Given the description of an element on the screen output the (x, y) to click on. 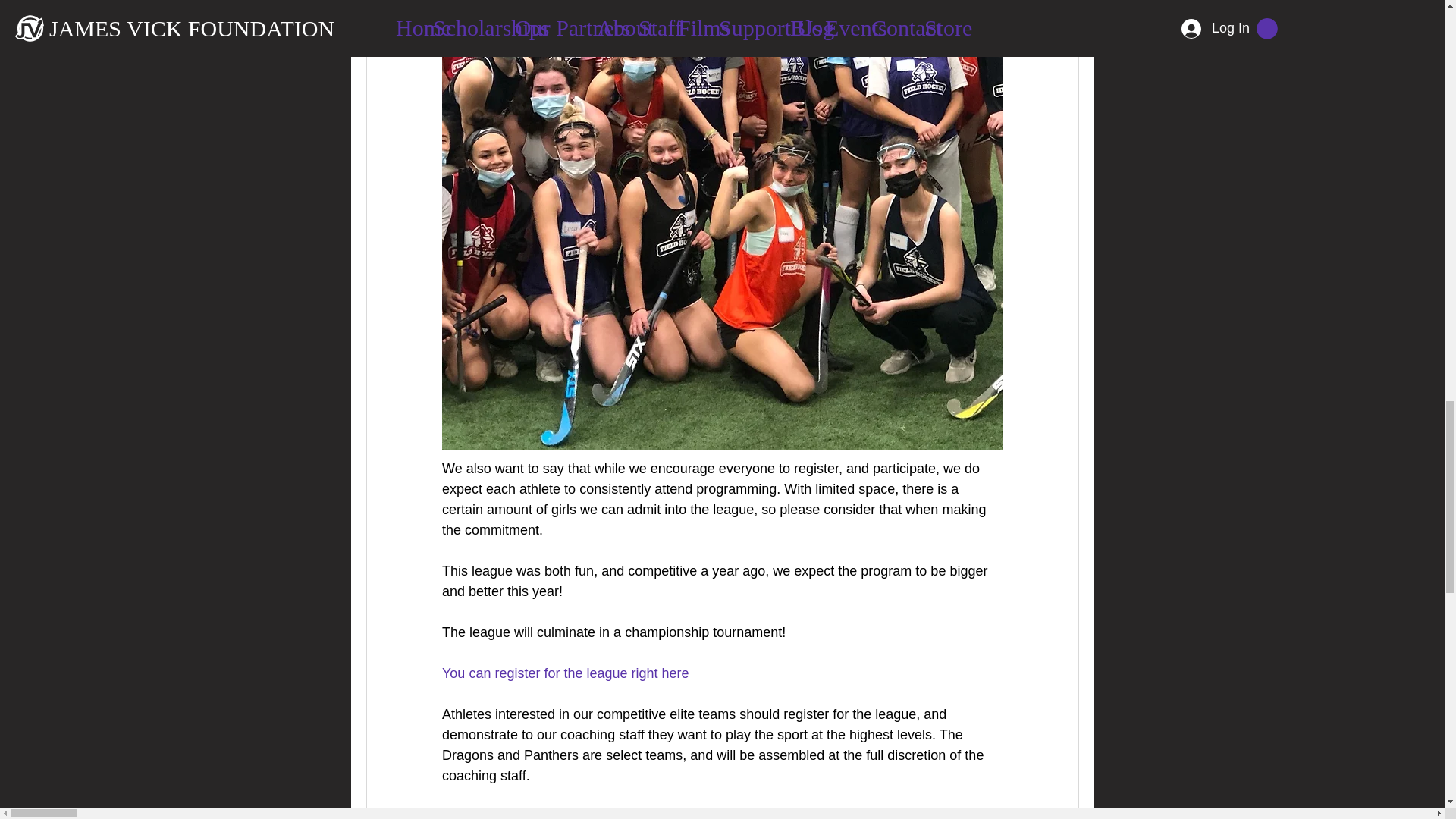
You can register for the league right here (564, 672)
